Given the description of an element on the screen output the (x, y) to click on. 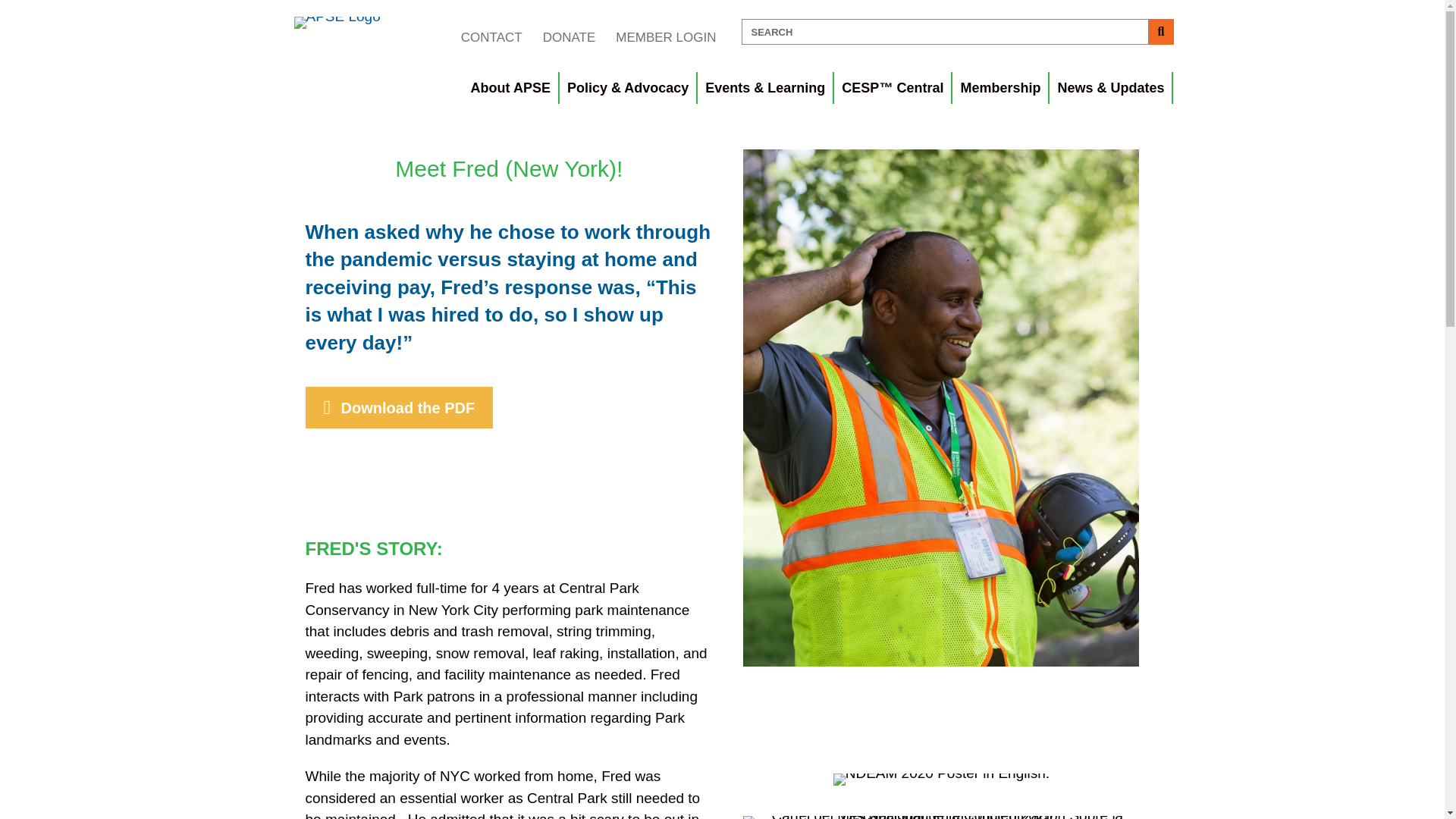
Type and press Enter to search. (957, 31)
2020PosterEnglishFront (940, 779)
apse-logo (337, 22)
SEARCH (944, 31)
About APSE (511, 88)
MEMBER LOGIN (665, 37)
CONTACT (491, 37)
SEARCH (944, 31)
Membership (1000, 88)
DONATE (568, 37)
